Given the description of an element on the screen output the (x, y) to click on. 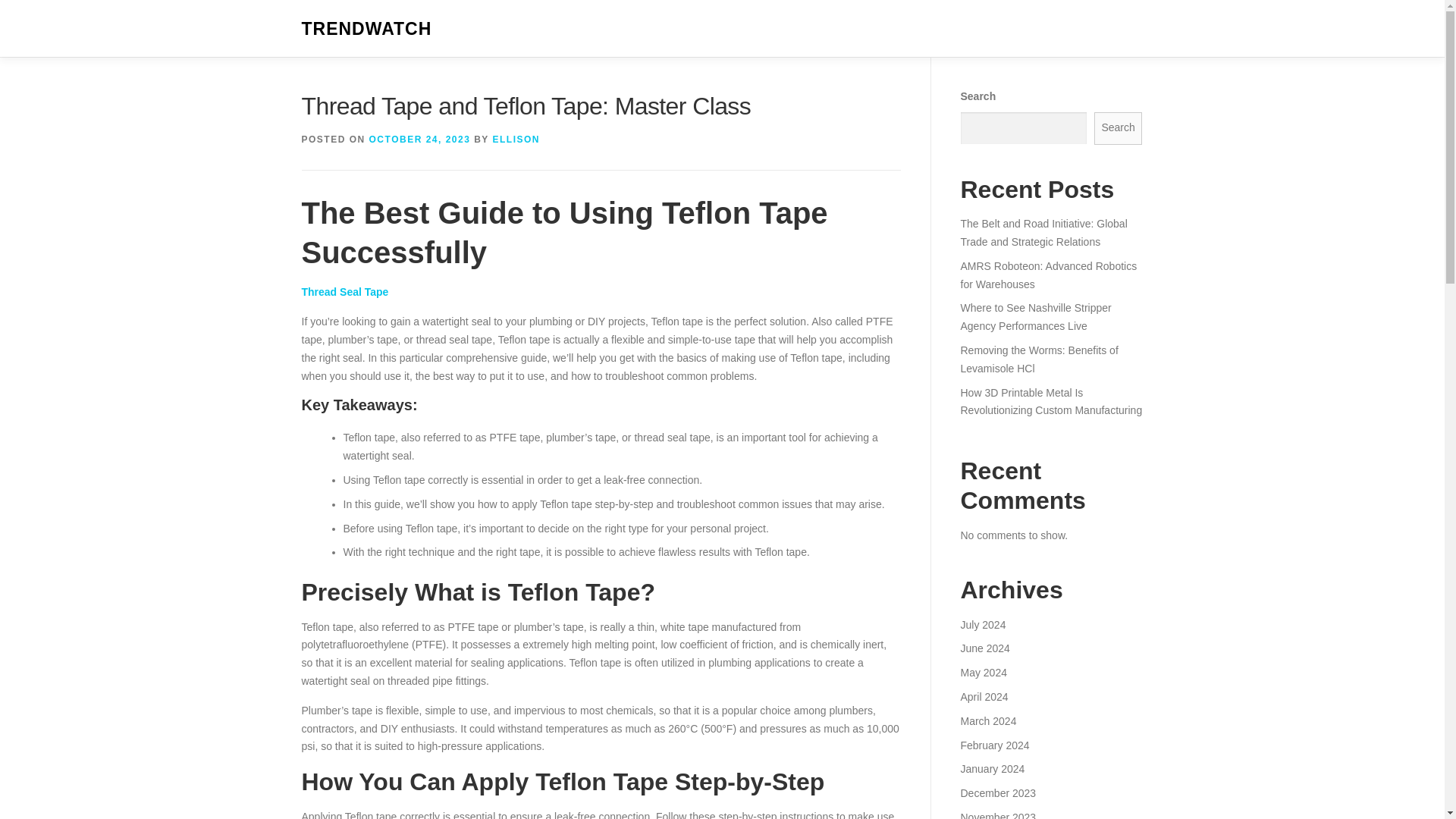
July 2024 (982, 624)
June 2024 (984, 648)
Thread Seal Tape (344, 291)
OCTOBER 24, 2023 (419, 139)
November 2023 (997, 815)
January 2024 (992, 768)
March 2024 (987, 720)
December 2023 (997, 793)
AMRS Roboteon: Advanced Robotics for Warehouses (1048, 275)
May 2024 (982, 672)
Where to See Nashville Stripper Agency Performances Live (1034, 317)
TRENDWATCH (366, 29)
Removing the Worms: Benefits of Levamisole HCl (1038, 358)
